Given the description of an element on the screen output the (x, y) to click on. 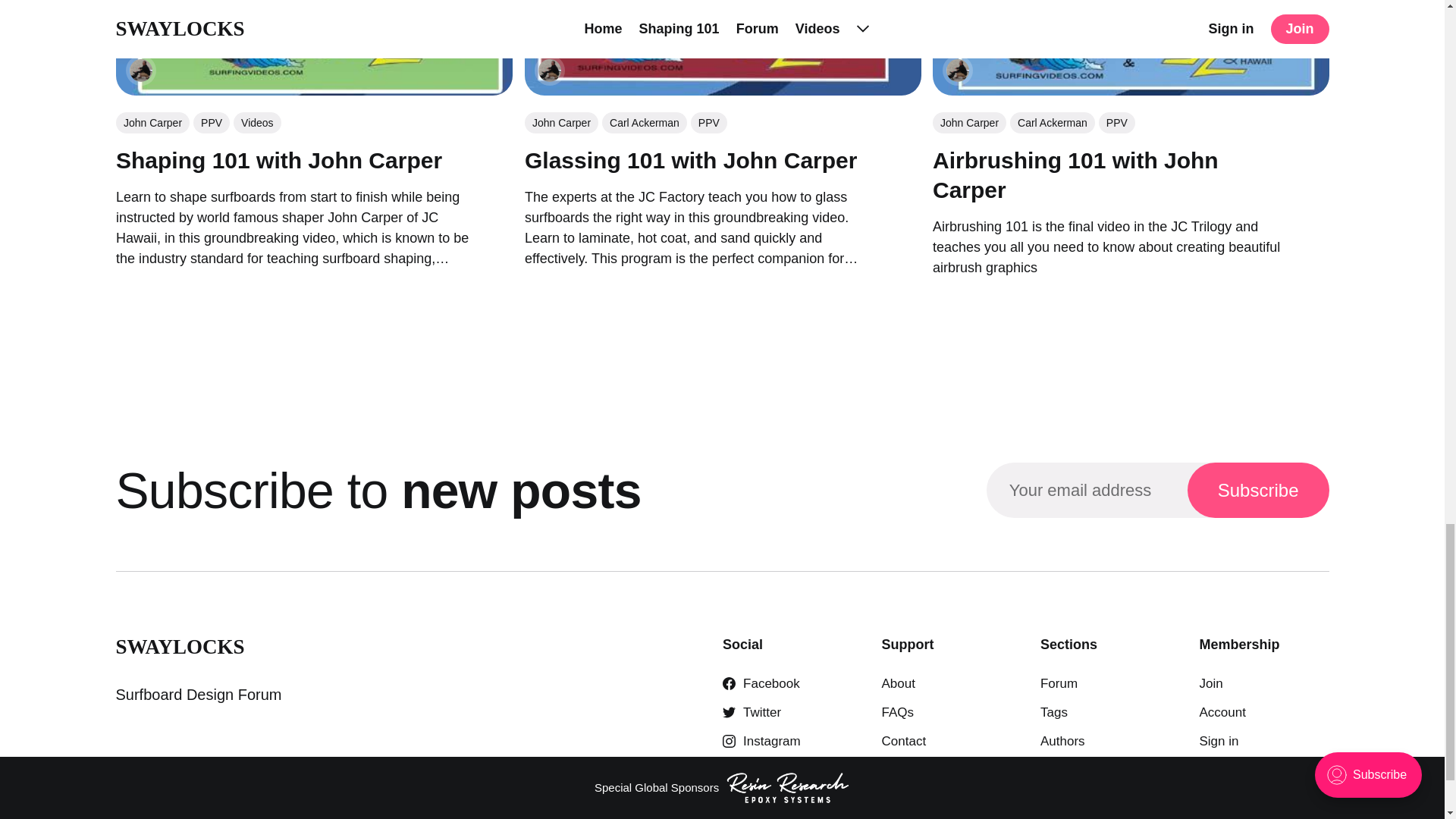
John Carper (152, 121)
PPV (211, 121)
Glassing 101 with John Carper (690, 159)
Carl Ackerman (548, 69)
Carl Ackerman (957, 69)
Videos (256, 121)
Shaping 101 with John Carper (278, 159)
Carl Ackerman (140, 69)
Carl Ackerman (643, 121)
PPV (708, 121)
